Given the description of an element on the screen output the (x, y) to click on. 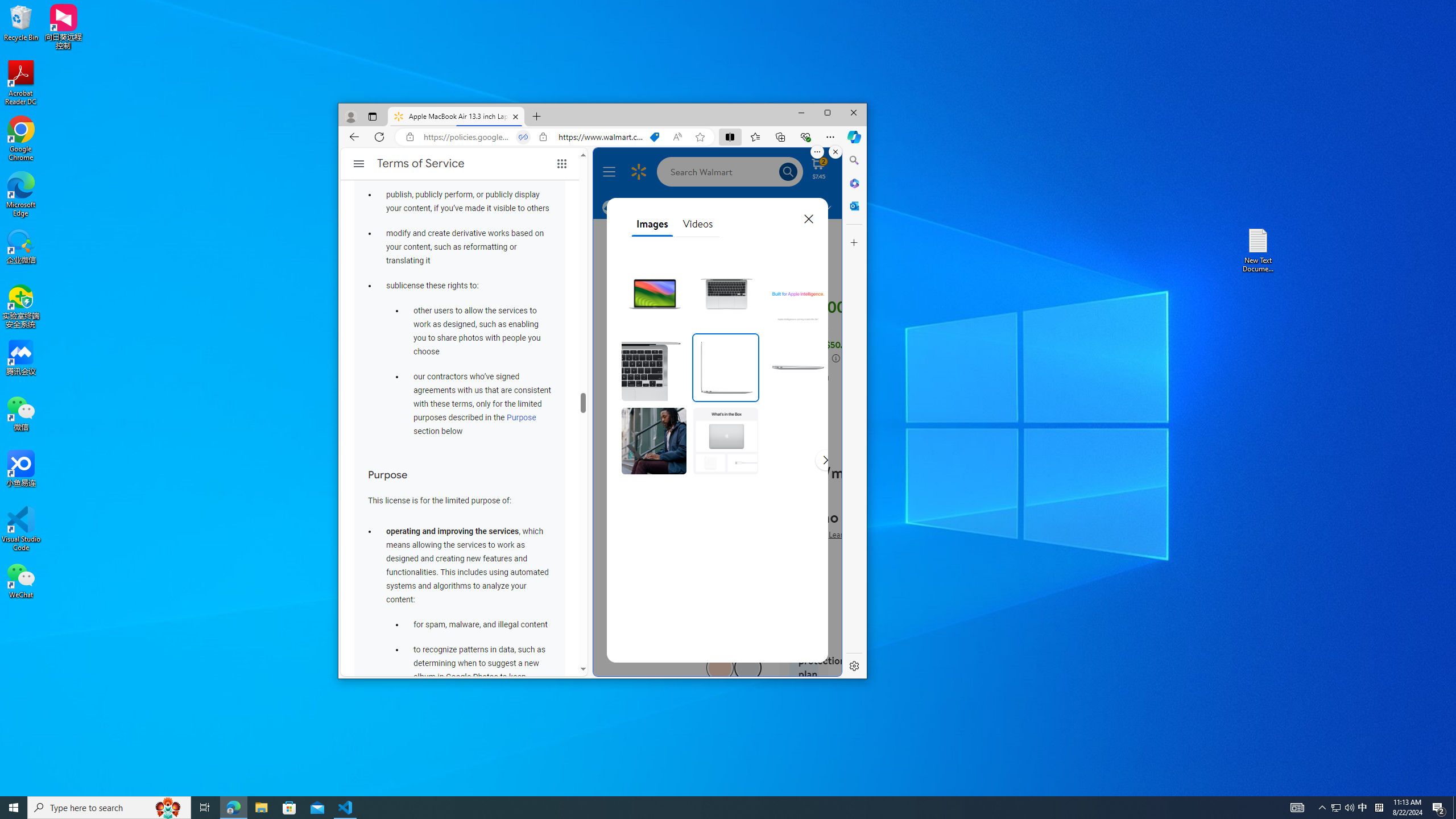
This site has coupons! Shopping in Microsoft Edge, 7 (654, 136)
Tabs in split screen (522, 136)
Google Chrome (21, 138)
Close dialog (807, 218)
Videos (697, 224)
